Given the description of an element on the screen output the (x, y) to click on. 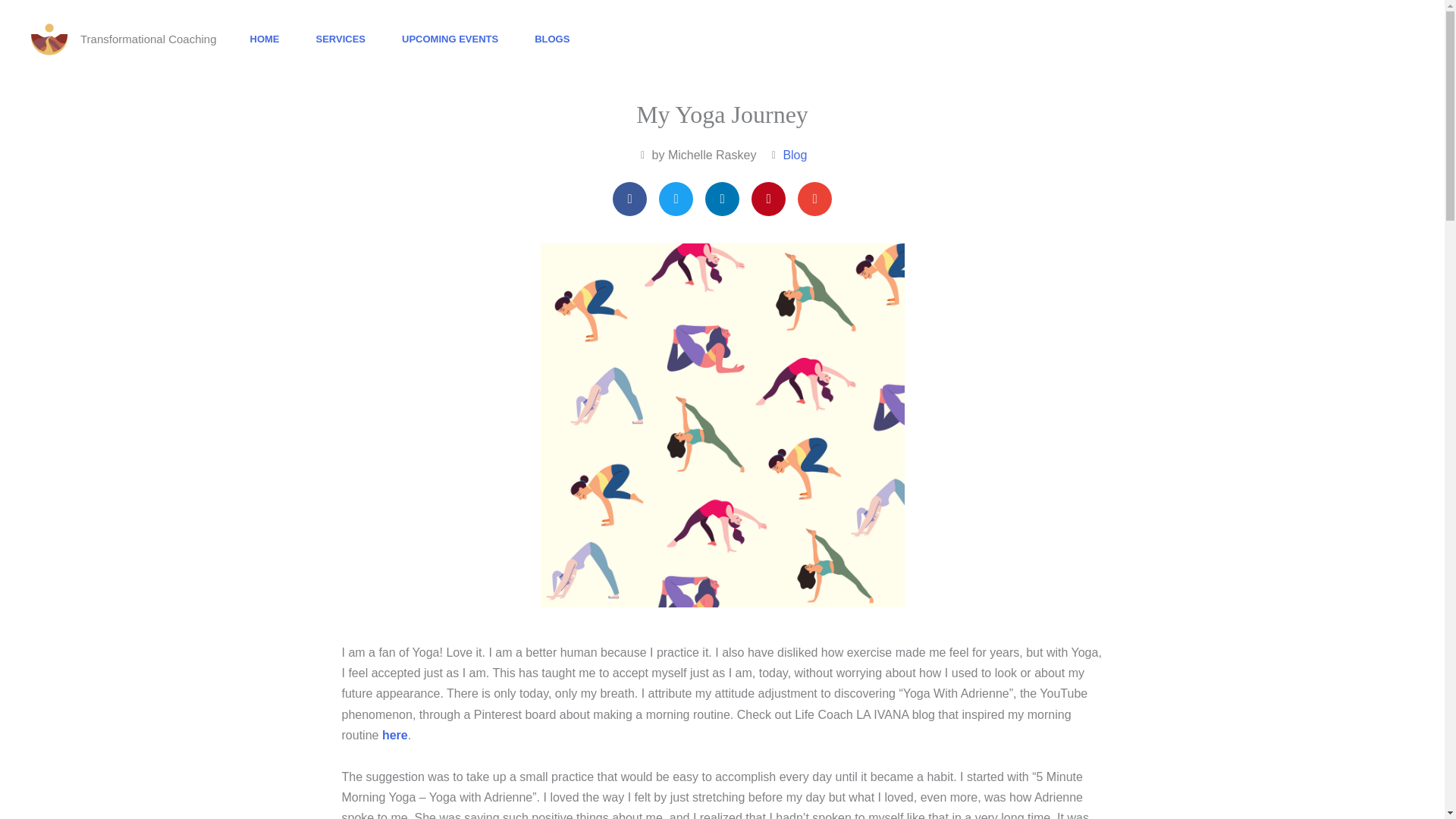
UPCOMING EVENTS (450, 39)
Blog (794, 154)
BLOGS (552, 39)
here (394, 735)
SERVICES (341, 39)
BOOK NOW (1344, 39)
